Given the description of an element on the screen output the (x, y) to click on. 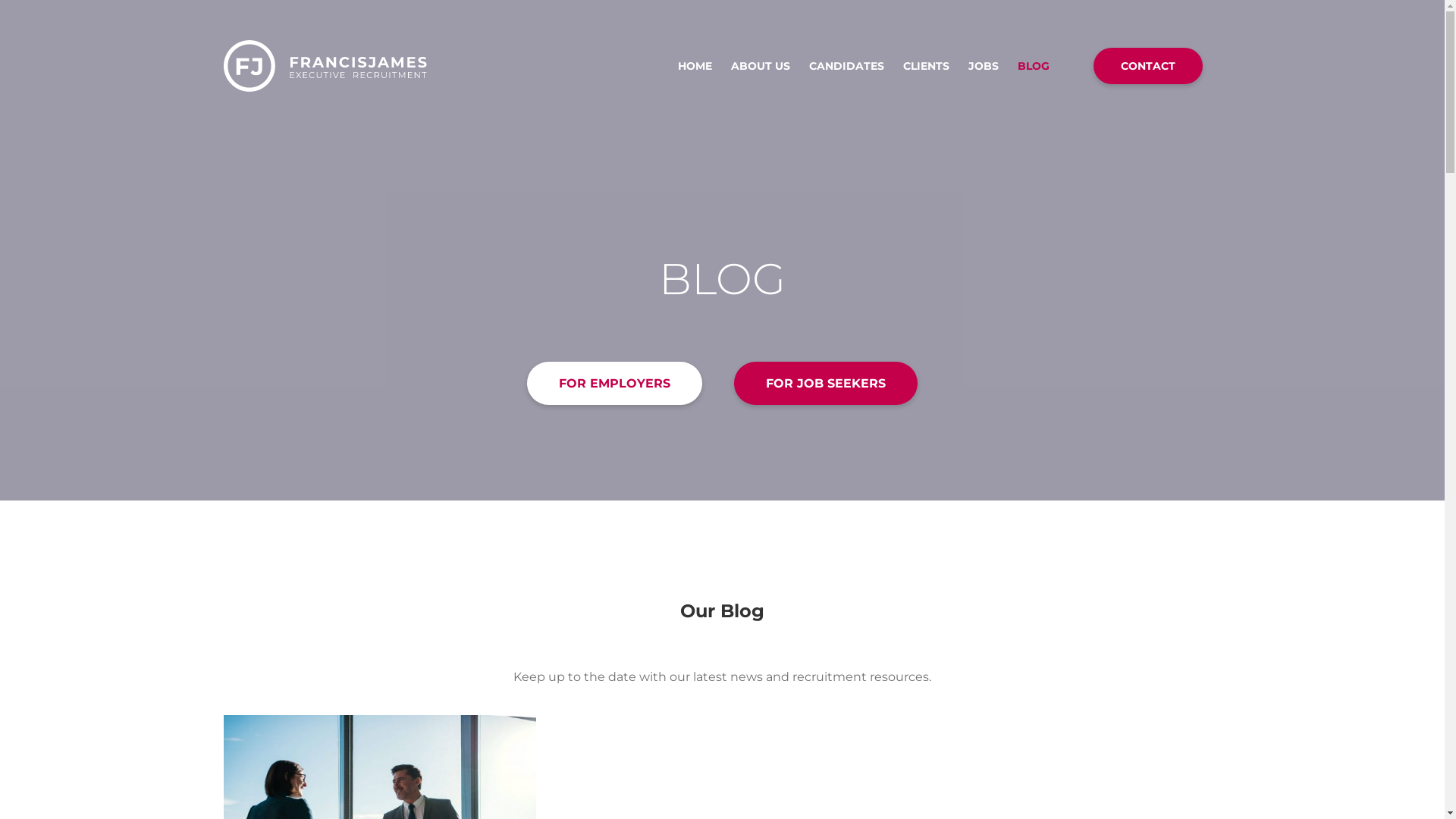
HOME Element type: text (694, 65)
BLOG Element type: text (1033, 65)
CLIENTS Element type: text (925, 65)
JOBS Element type: text (982, 65)
FOR EMPLOYERS Element type: text (614, 382)
ABOUT US Element type: text (760, 65)
CONTACT Element type: text (1147, 65)
CANDIDATES Element type: text (845, 65)
FOR JOB SEEKERS Element type: text (825, 382)
